Given the description of an element on the screen output the (x, y) to click on. 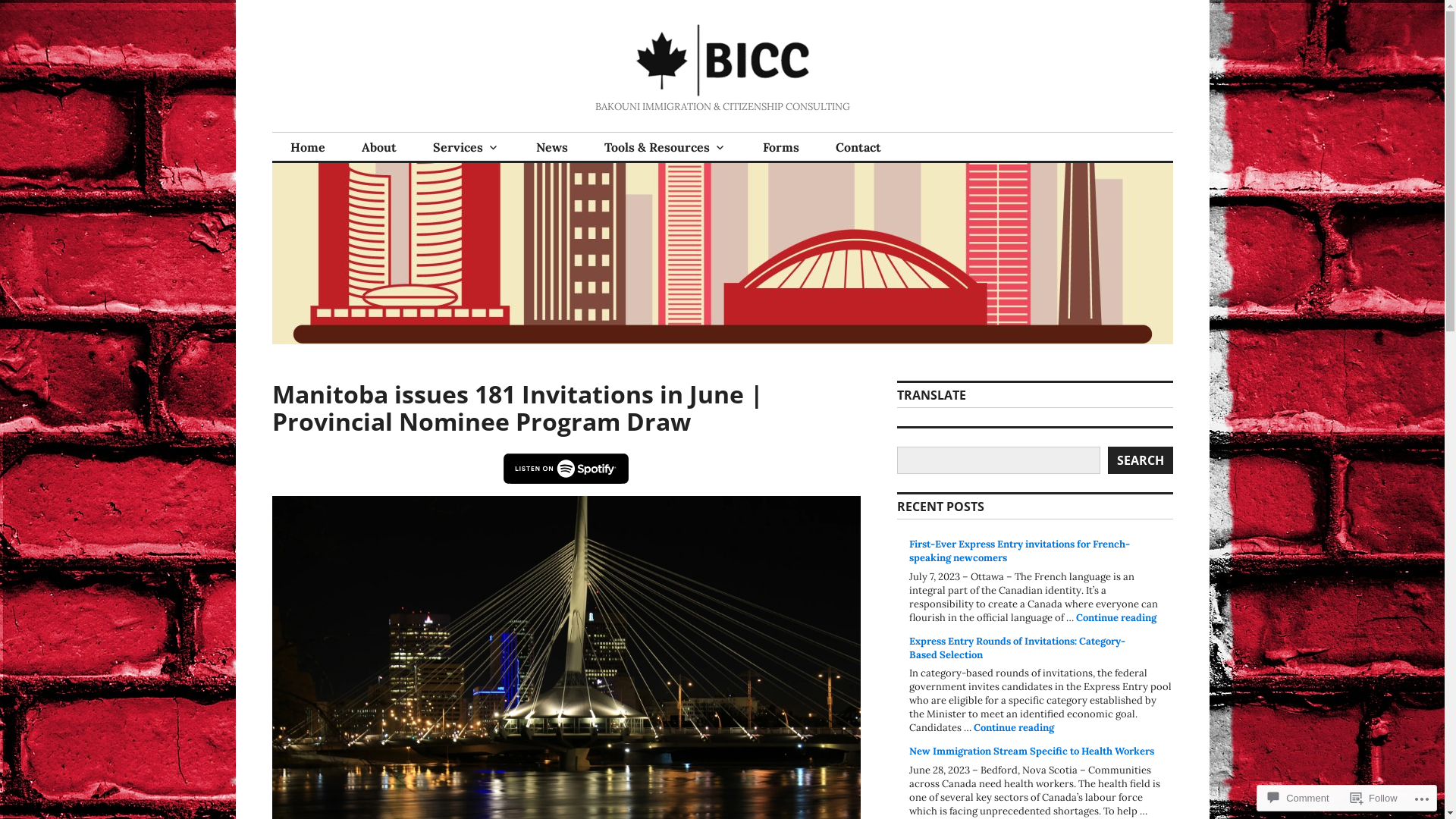
New Immigration Stream Specific to Health Workers Element type: text (1031, 750)
Services Element type: text (465, 146)
Follow Element type: text (1373, 797)
Tools & Resources Element type: text (664, 146)
Comment Element type: text (1297, 797)
Forms Element type: text (780, 146)
Contact Element type: text (858, 146)
About Element type: text (378, 146)
SEARCH Element type: text (1139, 459)
Continue reading Element type: text (1013, 727)
Continue reading Element type: text (1116, 617)
News Element type: text (551, 146)
Home Element type: text (306, 146)
